Given the description of an element on the screen output the (x, y) to click on. 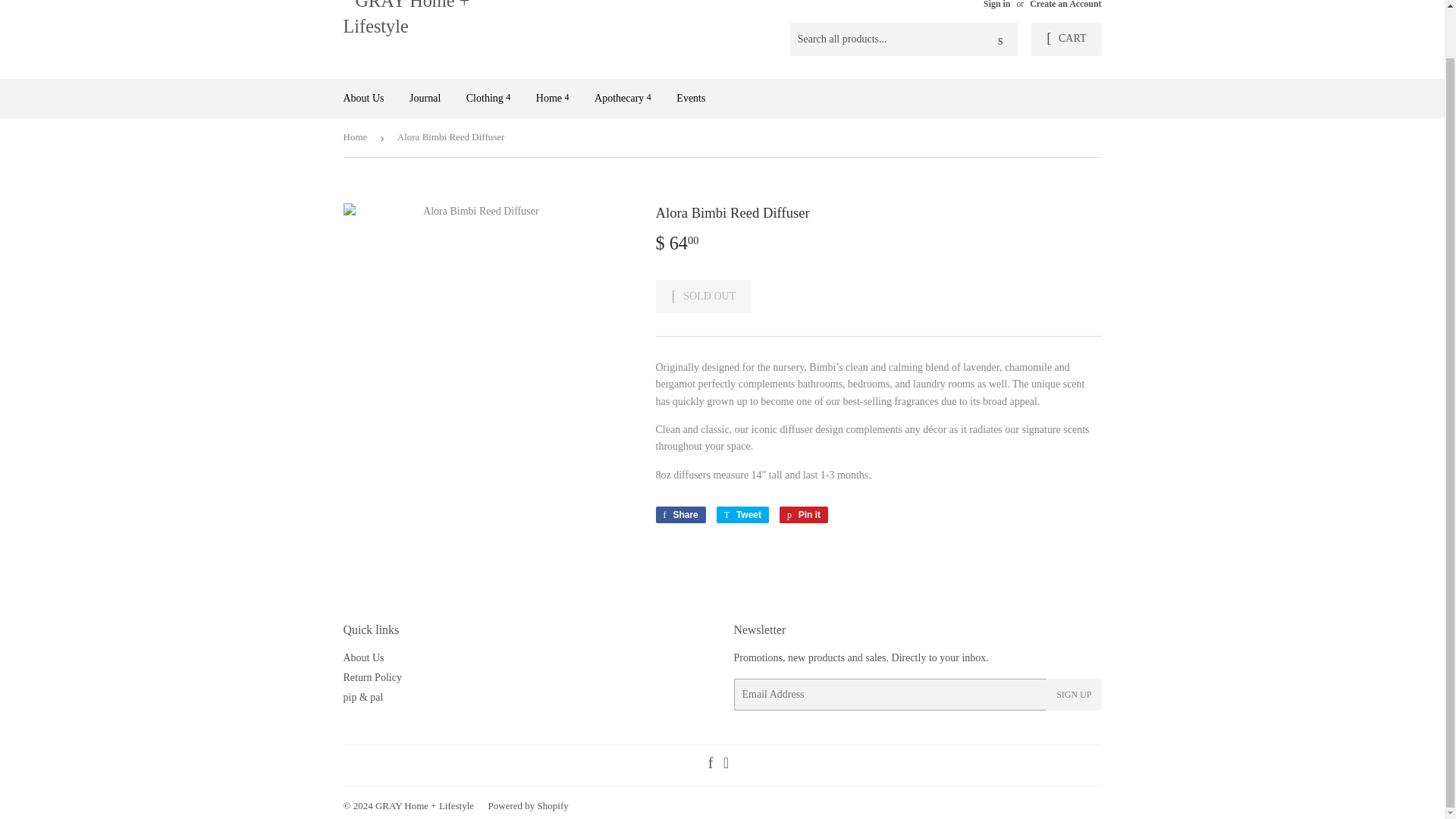
CART (1065, 39)
Pin on Pinterest (803, 514)
Sign in (997, 4)
Create an Account (1064, 4)
Share on Facebook (679, 514)
Tweet on Twitter (742, 514)
Search (1000, 40)
